Given the description of an element on the screen output the (x, y) to click on. 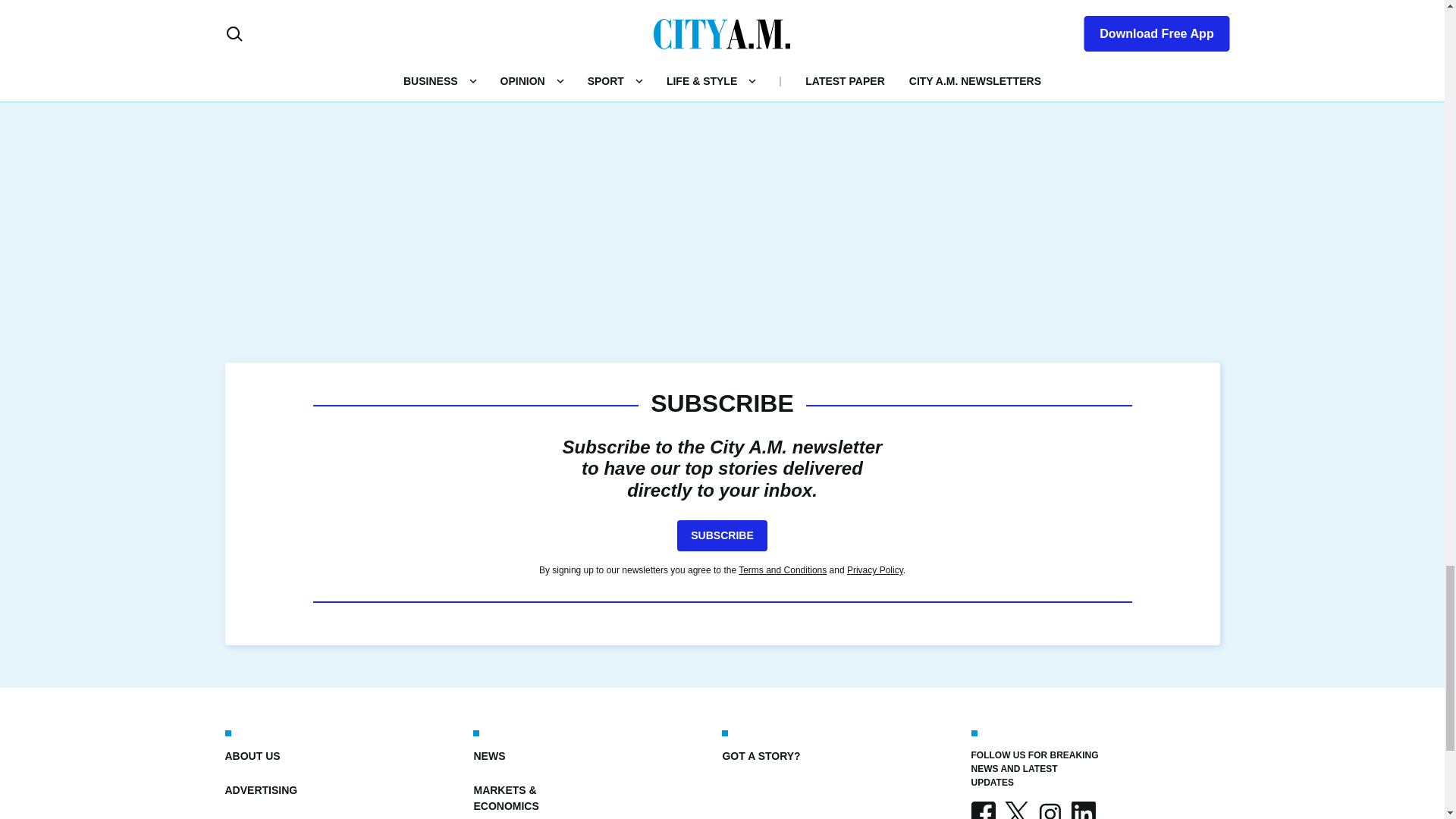
LINKEDIN (1082, 810)
X (1015, 810)
FACEBOOK (982, 810)
INSTAGRAM (1048, 810)
